Given the description of an element on the screen output the (x, y) to click on. 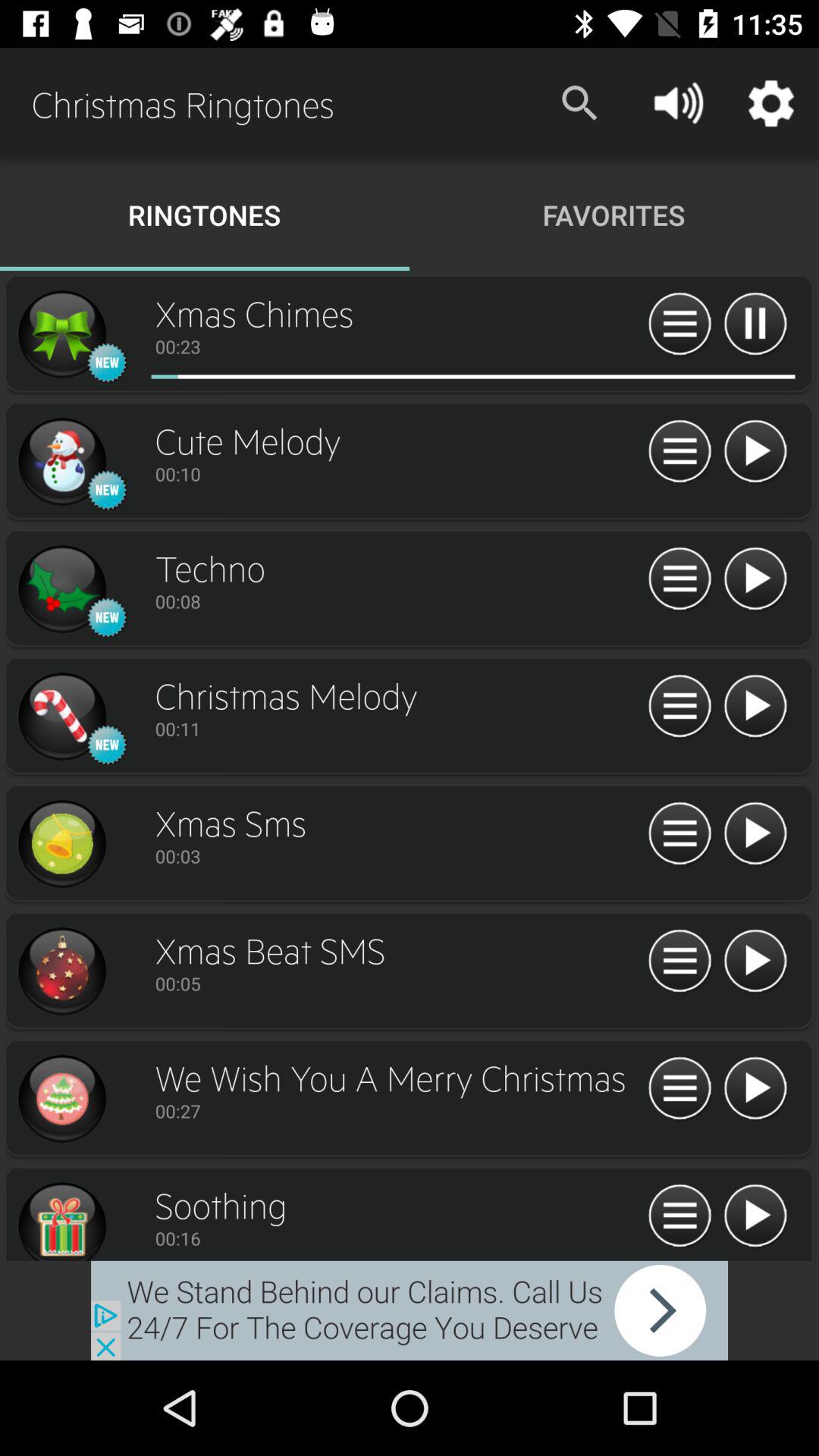
more (679, 579)
